Given the description of an element on the screen output the (x, y) to click on. 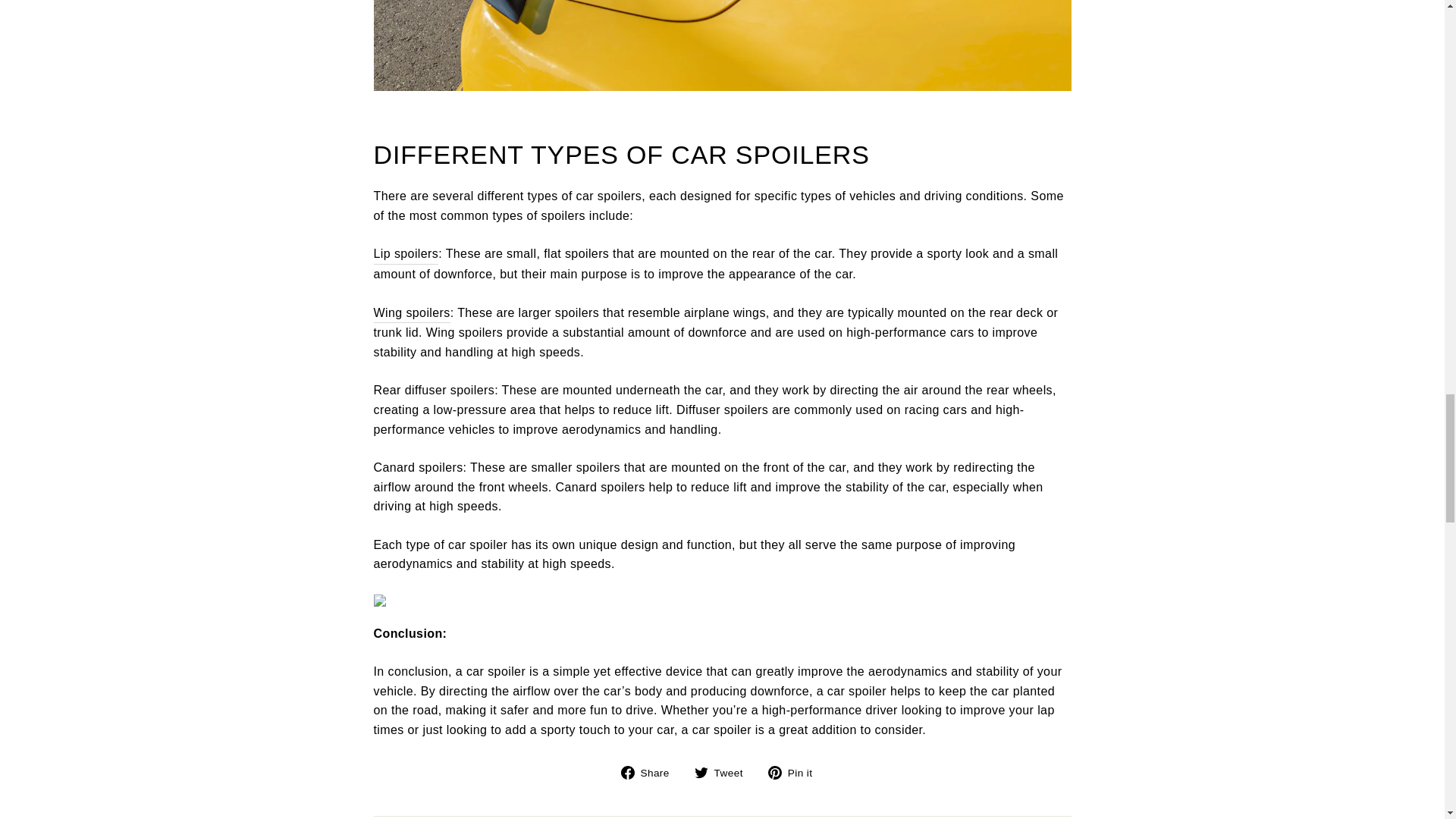
Share on Facebook (651, 772)
Pin on Pinterest (796, 772)
Tweet on Twitter (724, 772)
